Given the description of an element on the screen output the (x, y) to click on. 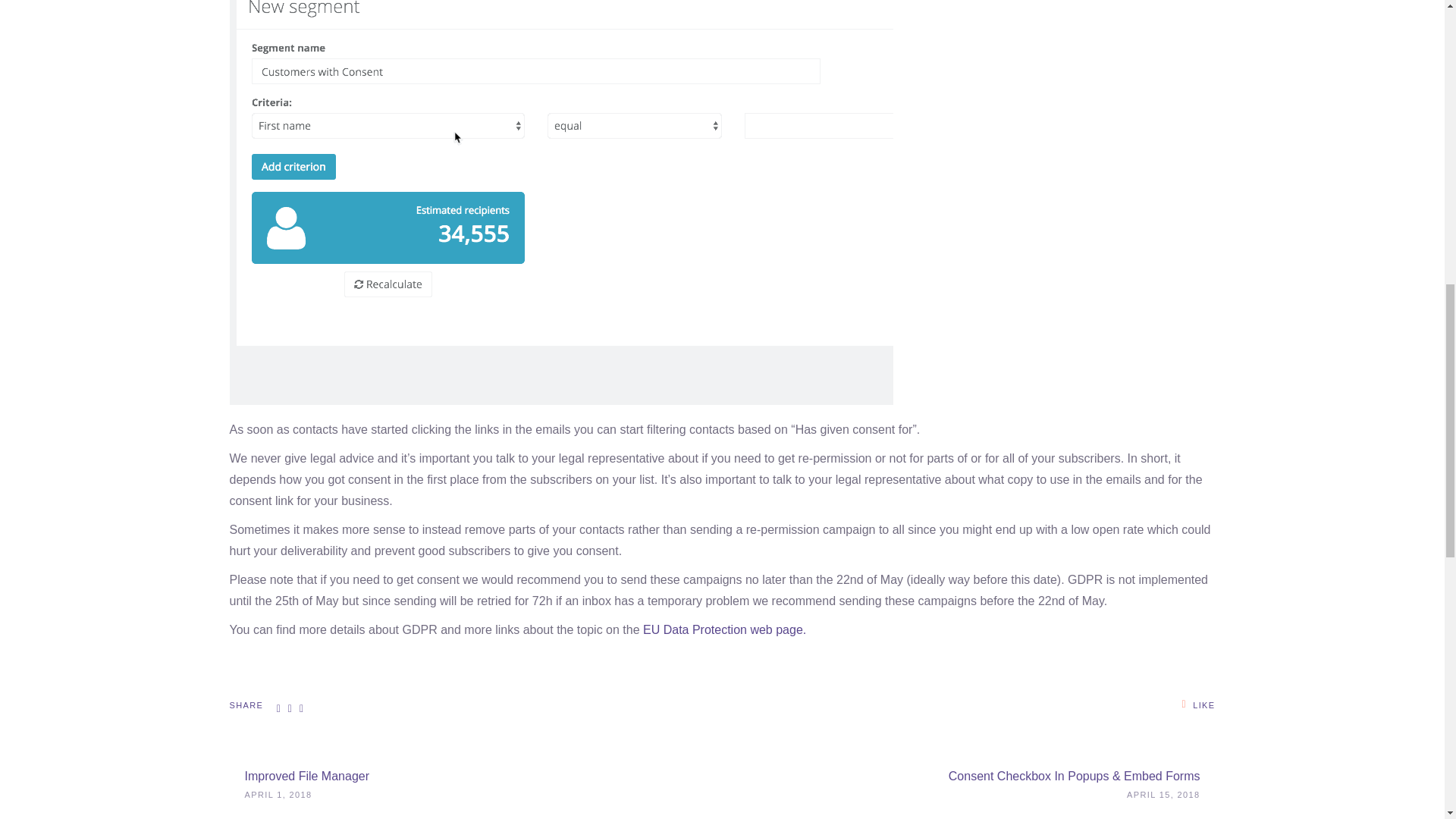
EU Data Protection web page. (724, 629)
LIKE (1198, 703)
Like this (1198, 703)
